Given the description of an element on the screen output the (x, y) to click on. 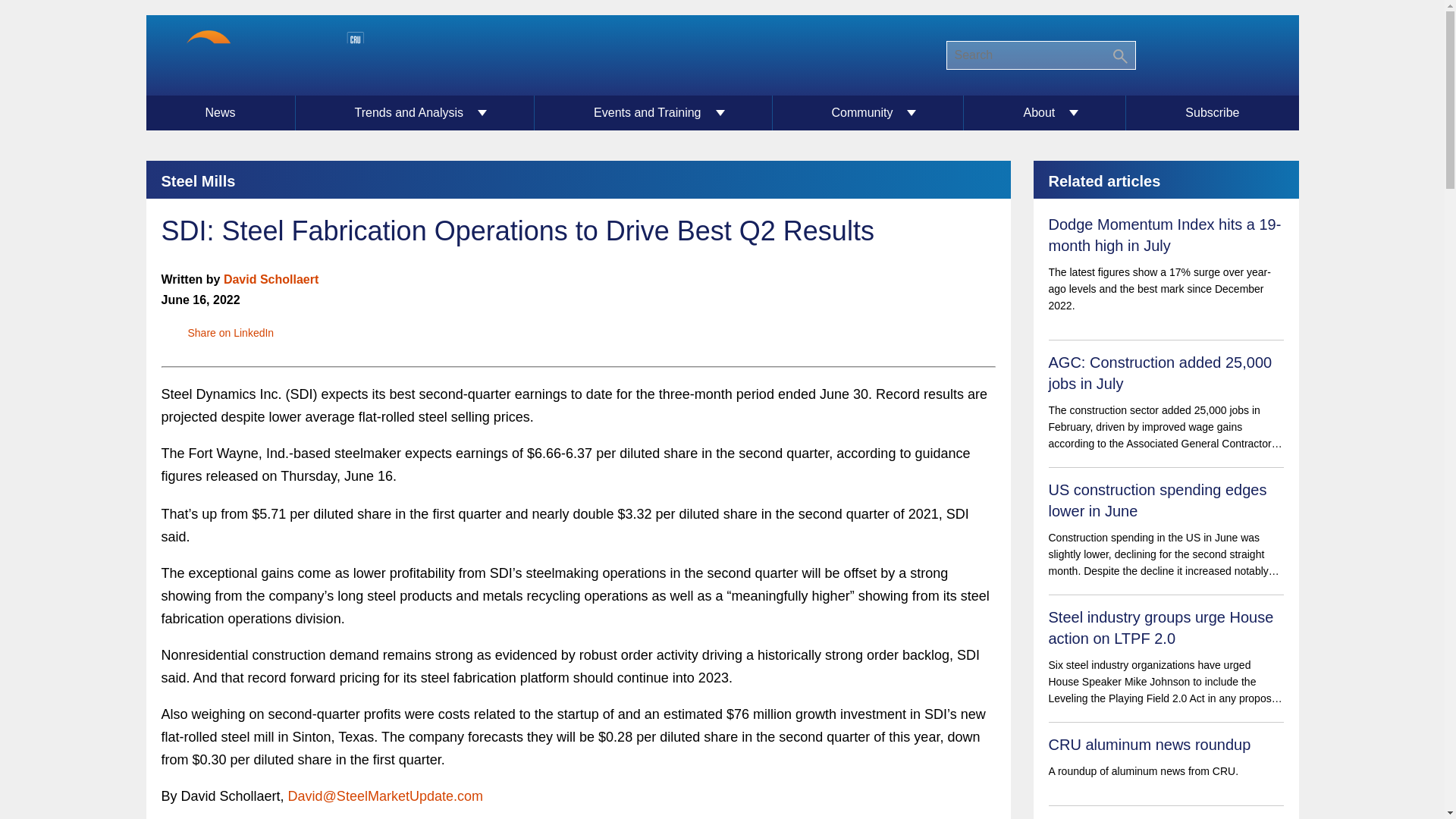
Trends and Analysis (415, 112)
News (220, 112)
Home (262, 55)
